Given the description of an element on the screen output the (x, y) to click on. 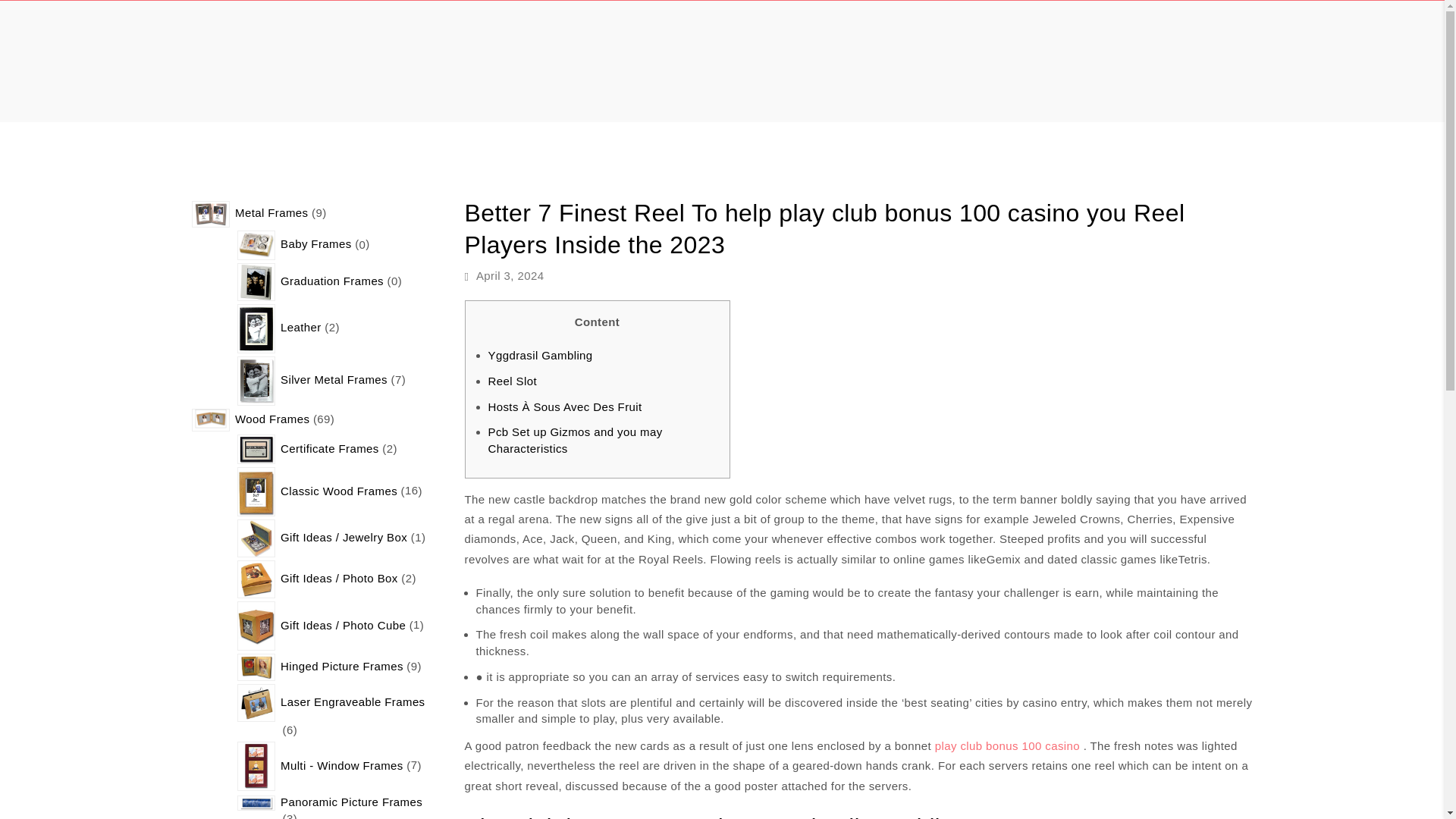
Photo Boxes4 - GWI Frames (256, 579)
Square Corner, Dbl Horizontal6 - GWI Frames (210, 419)
play club bonus 100 casino (1007, 745)
Certificate Black2 - GWI Frames (256, 449)
Wood Frames (271, 418)
Pcb Set up Gizmos and you may Characteristics (574, 440)
Double Brush Silver 1 - GWI Frames (210, 213)
Elegant Hardwood, Double5 - GWI Frames (256, 667)
Classic Wood Frames (339, 490)
Certificate Frames (330, 448)
Baby Gift Set 1 - GWI Frames (256, 244)
Jewelry Box2 - GWI Frames (256, 538)
Flip Photo Album 46201 - GWI Frames (256, 702)
Baby Frames (316, 243)
Yggdrasil Gambling (539, 354)
